Given the description of an element on the screen output the (x, y) to click on. 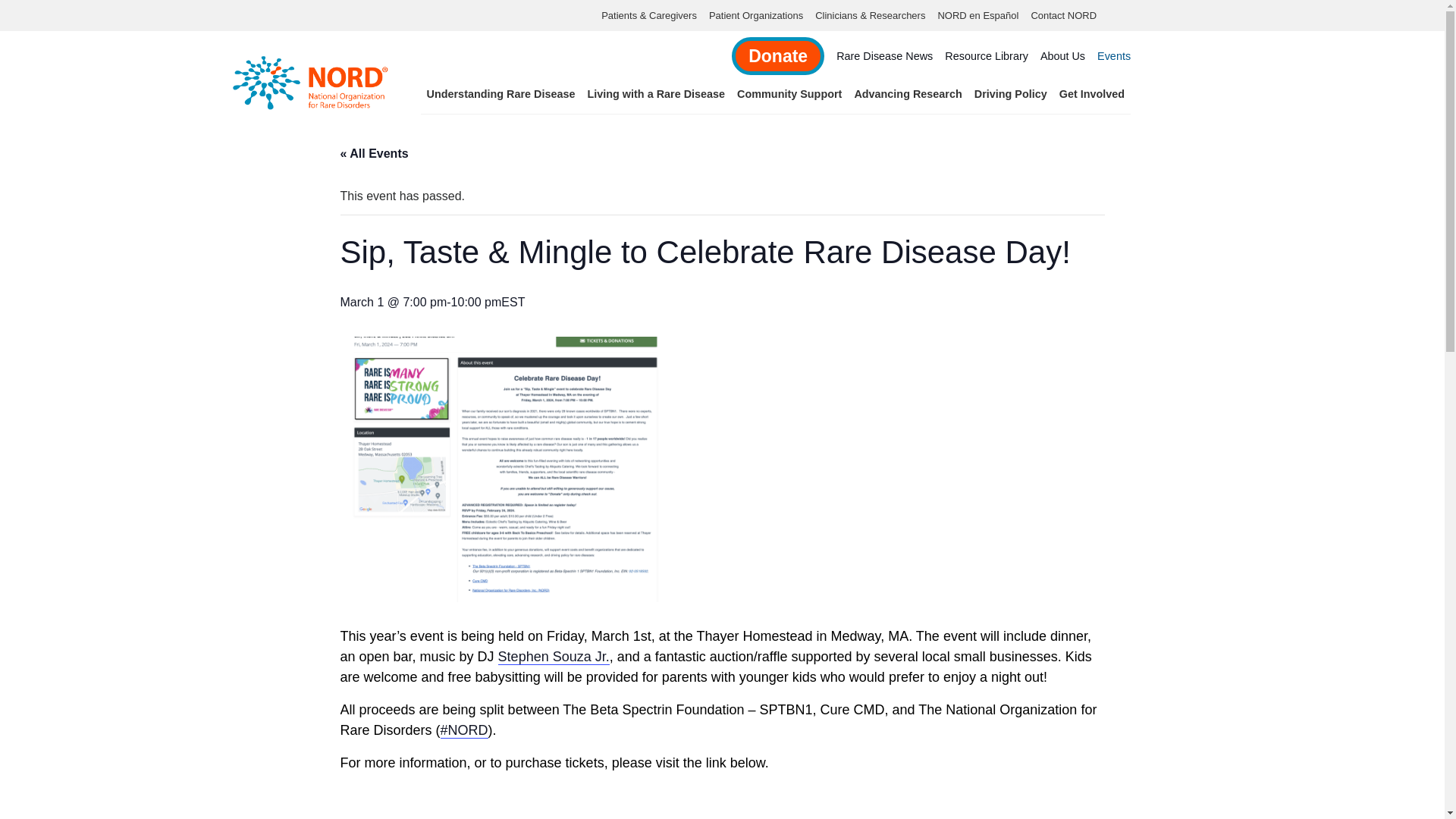
Search (12, 12)
Patient Organizations (756, 14)
Events (1114, 55)
National Organization for Rare Disorders NORD (310, 80)
Living with a Rare Disease (655, 94)
Understanding Rare Disease (500, 94)
Rare Disease News (884, 55)
Donate (778, 55)
About Us (1062, 55)
Contact NORD (1063, 14)
